Given the description of an element on the screen output the (x, y) to click on. 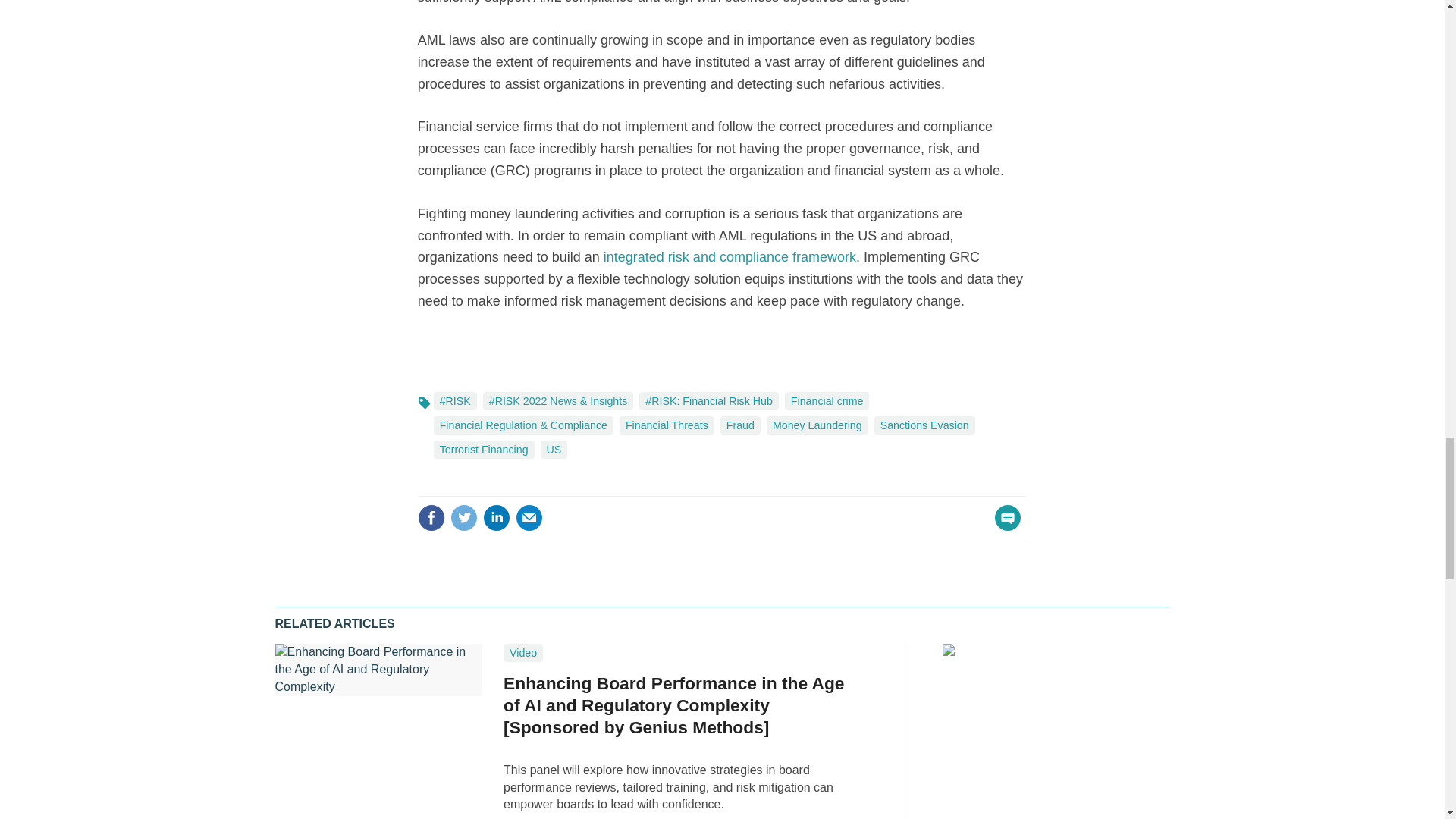
Share this on Facebook (431, 517)
Share this on Linked in (497, 517)
Email this article (529, 517)
No comments (1003, 526)
Share this on Twitter (463, 517)
